Given the description of an element on the screen output the (x, y) to click on. 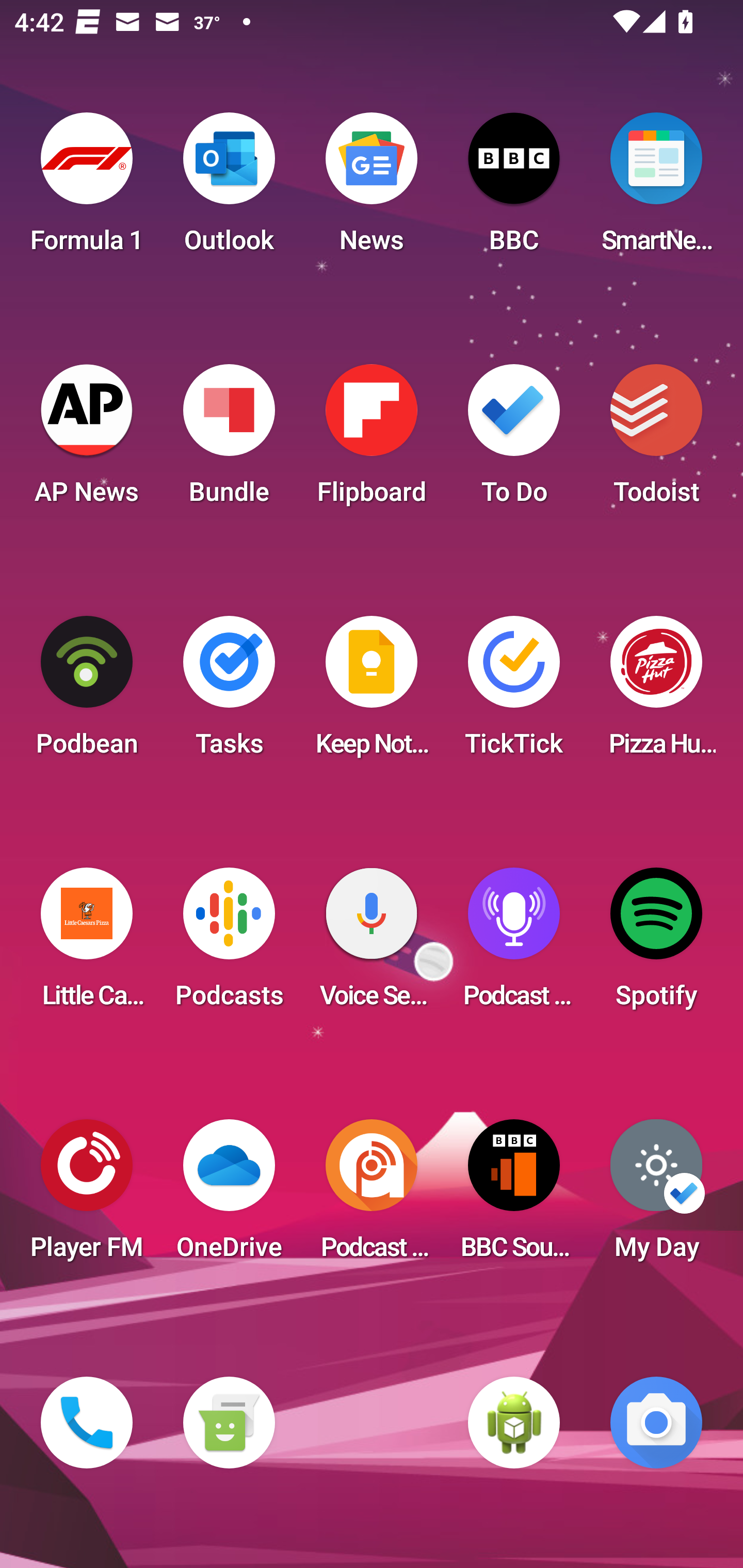
Formula 1 (86, 188)
Outlook (228, 188)
News (371, 188)
BBC (513, 188)
SmartNews (656, 188)
AP News (86, 440)
Bundle (228, 440)
Flipboard (371, 440)
To Do (513, 440)
Todoist (656, 440)
Podbean (86, 692)
Tasks (228, 692)
Keep Notes (371, 692)
TickTick (513, 692)
Pizza Hut HK & Macau (656, 692)
Little Caesars Pizza (86, 943)
Podcasts (228, 943)
Voice Search (371, 943)
Podcast Player (513, 943)
Spotify (656, 943)
Player FM (86, 1195)
OneDrive (228, 1195)
Podcast Addict (371, 1195)
BBC Sounds (513, 1195)
My Day (656, 1195)
Phone (86, 1422)
Messaging (228, 1422)
WebView Browser Tester (513, 1422)
Camera (656, 1422)
